Given the description of an element on the screen output the (x, y) to click on. 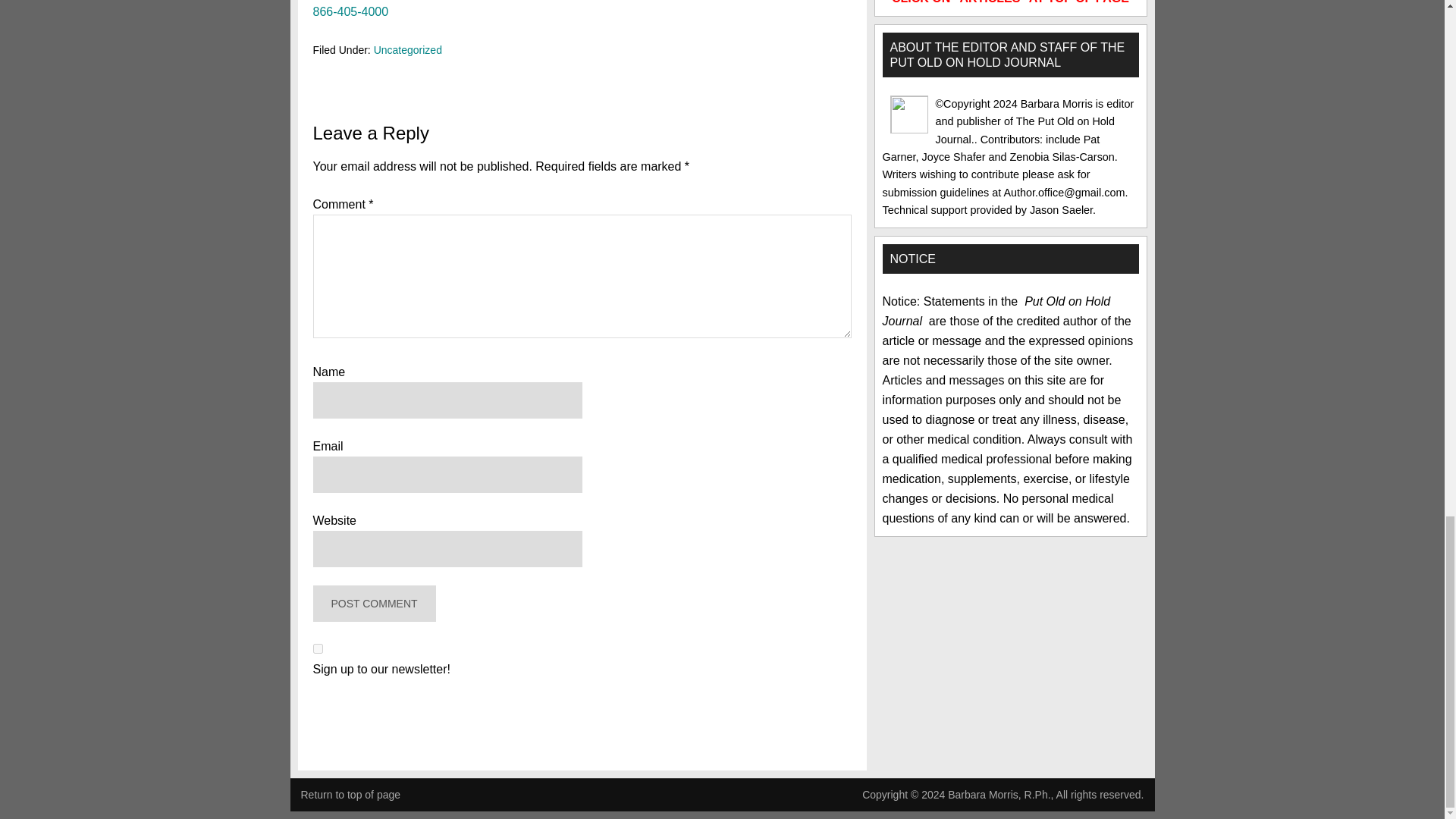
Post Comment (374, 603)
866-405-4000 (350, 11)
Uncategorized (408, 50)
Post Comment (374, 603)
1 (317, 648)
Return to top of page (349, 794)
